Given the description of an element on the screen output the (x, y) to click on. 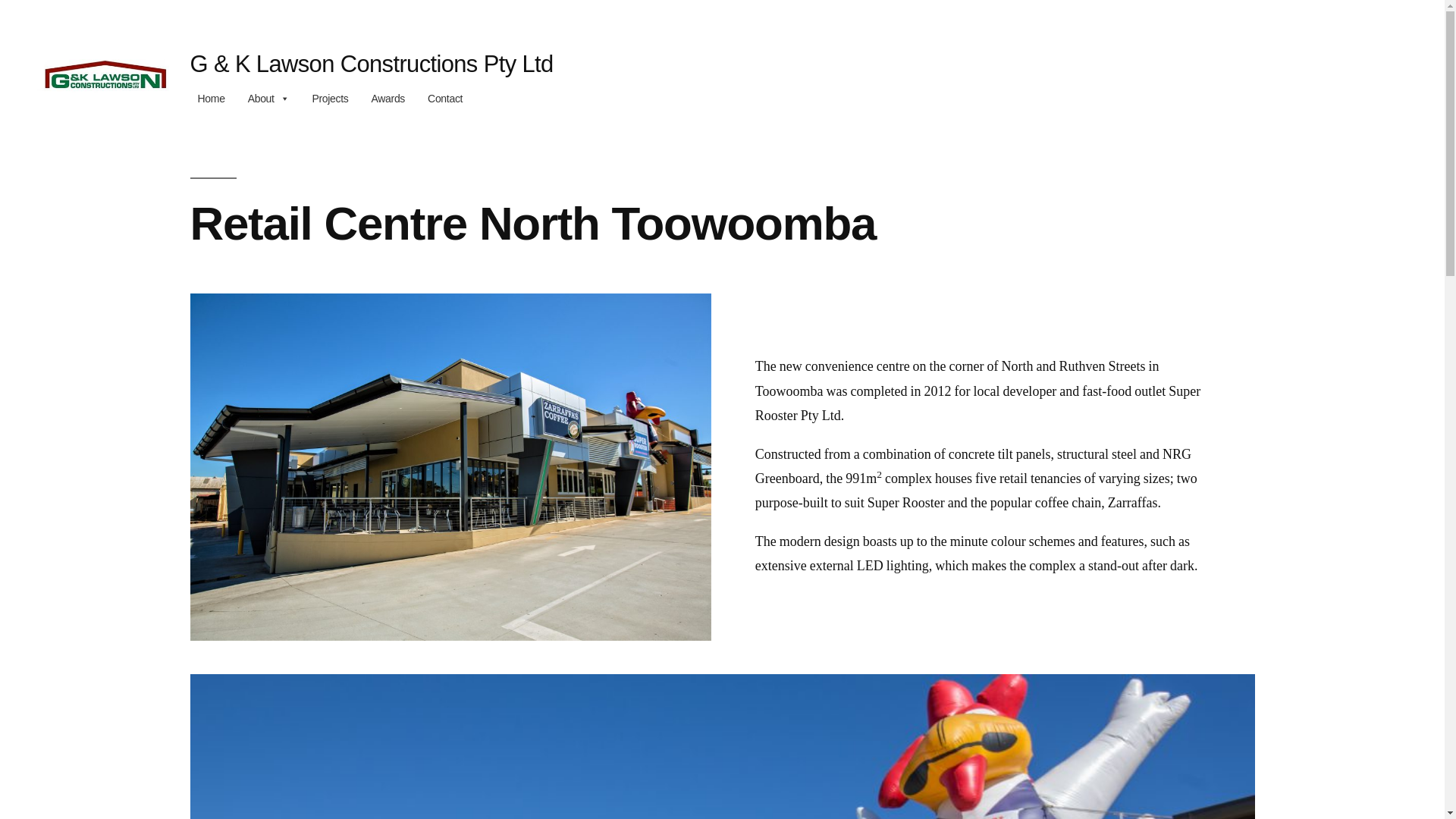
Awards Element type: text (387, 98)
About Element type: text (268, 98)
Home Element type: text (210, 98)
Contact Element type: text (445, 98)
G & K Lawson Constructions Pty Ltd Element type: text (370, 63)
Projects Element type: text (329, 98)
